Given the description of an element on the screen output the (x, y) to click on. 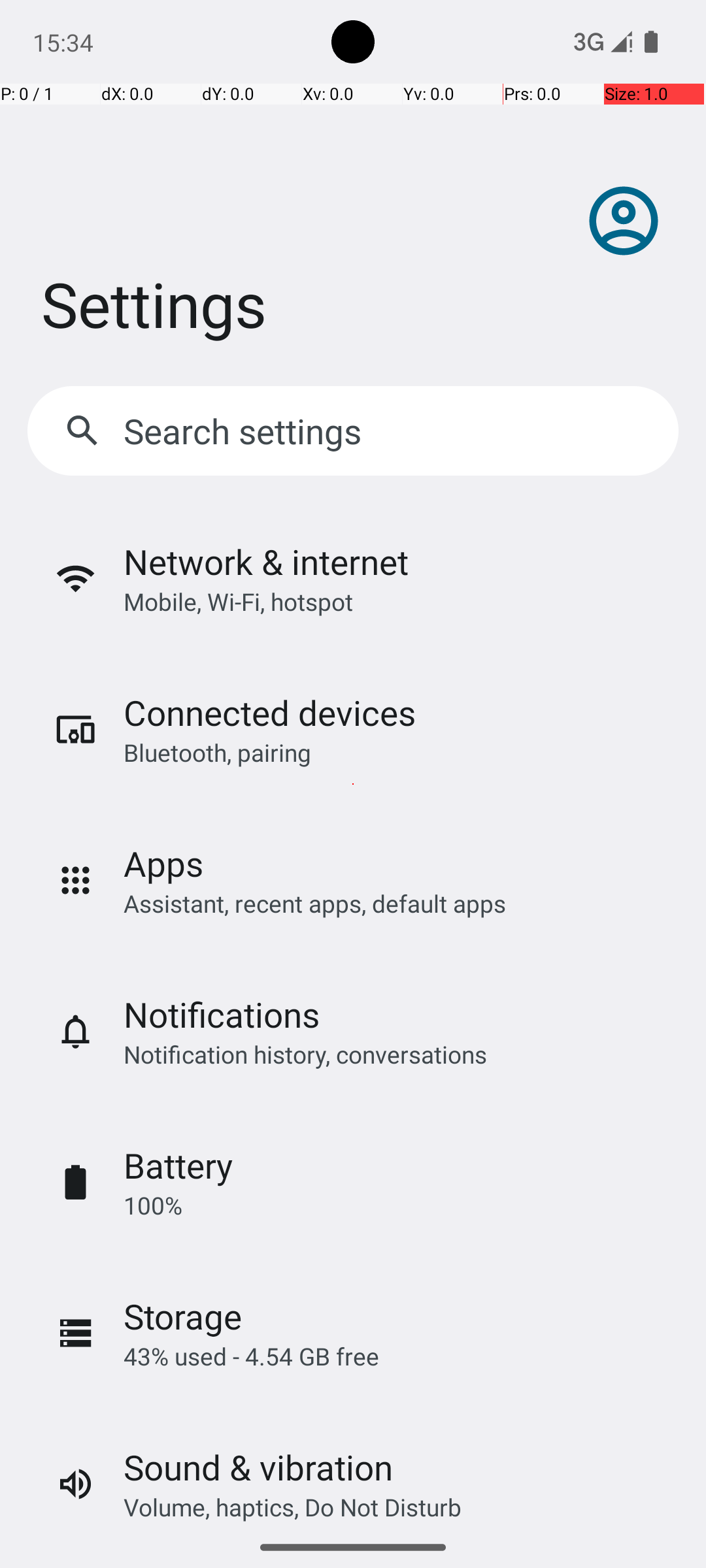
43% used - 4.54 GB free Element type: android.widget.TextView (251, 1355)
